Given the description of an element on the screen output the (x, y) to click on. 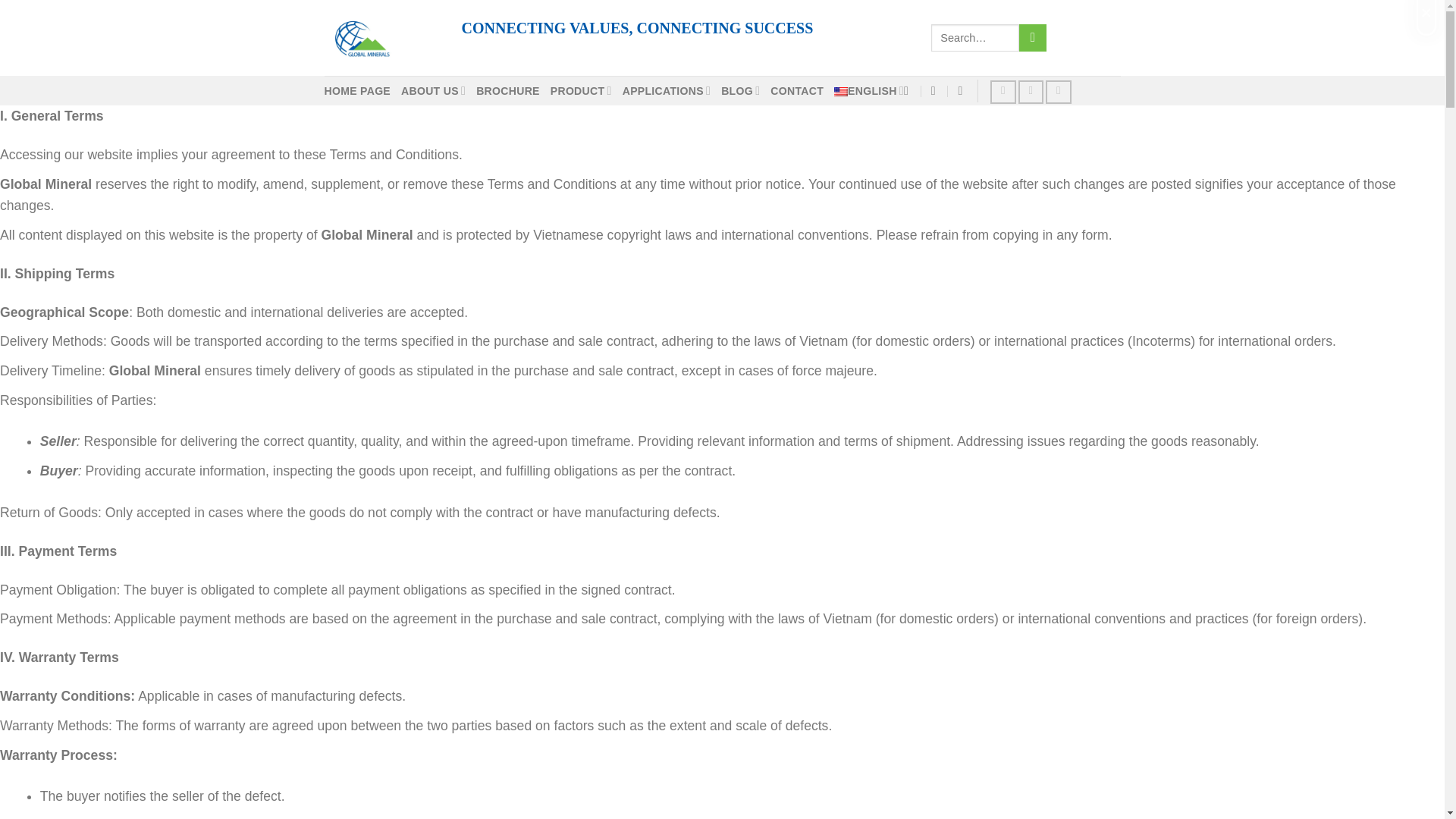
HOME PAGE (357, 90)
ABOUT US (433, 90)
Follow on LinkedIn (1030, 92)
Search (1032, 38)
ENGLISH (869, 90)
Vin Carb - Value Connection, Success Connection (381, 38)
BLOG (740, 90)
APPLICATIONS (666, 90)
English (840, 91)
PRODUCT (580, 90)
Follow on YouTube (1058, 92)
Follow on Facebook (1003, 92)
BROCHURE (508, 90)
CONTACT (797, 90)
